Given the description of an element on the screen output the (x, y) to click on. 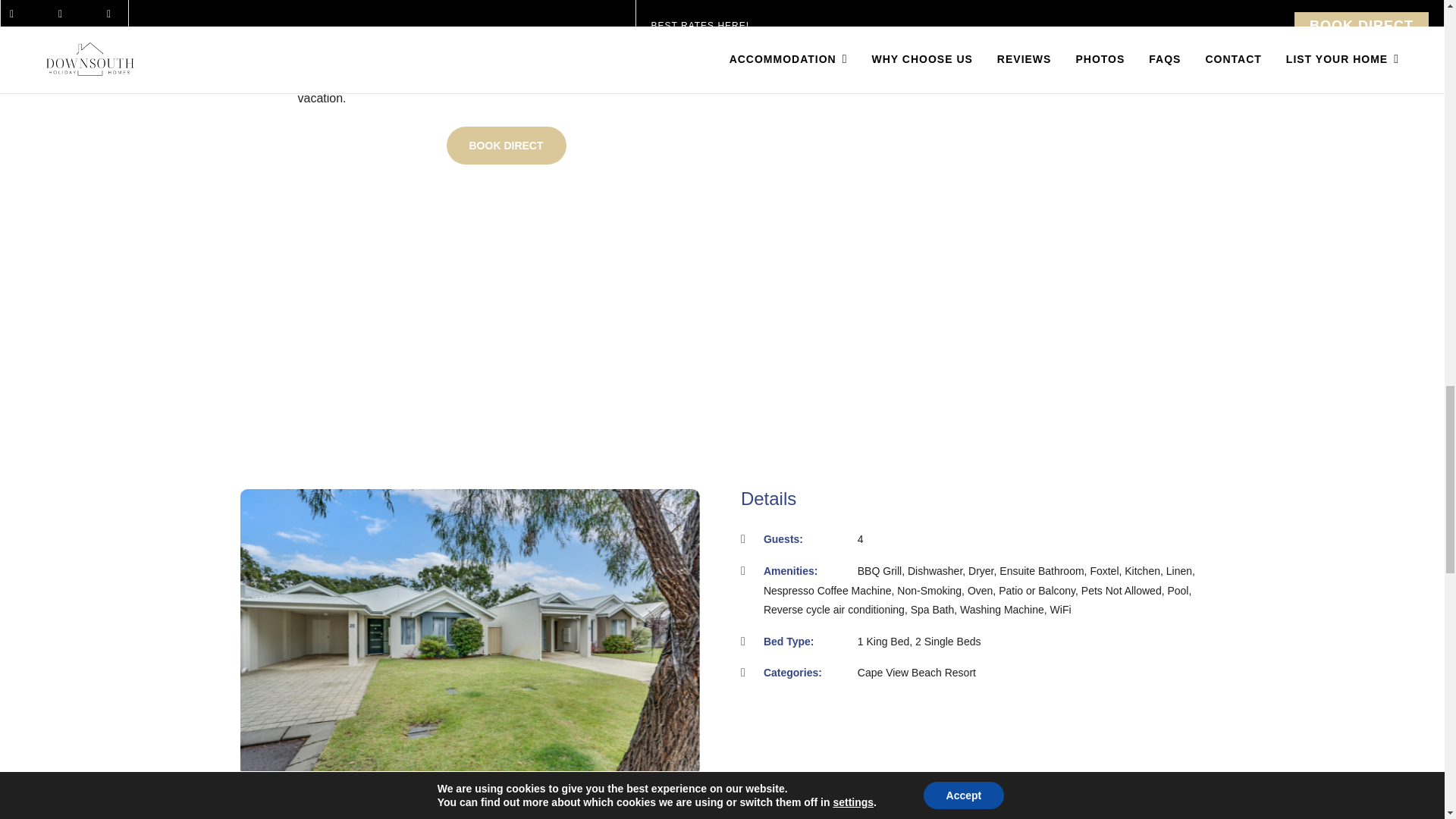
BOOK DIRECT (505, 145)
